Given the description of an element on the screen output the (x, y) to click on. 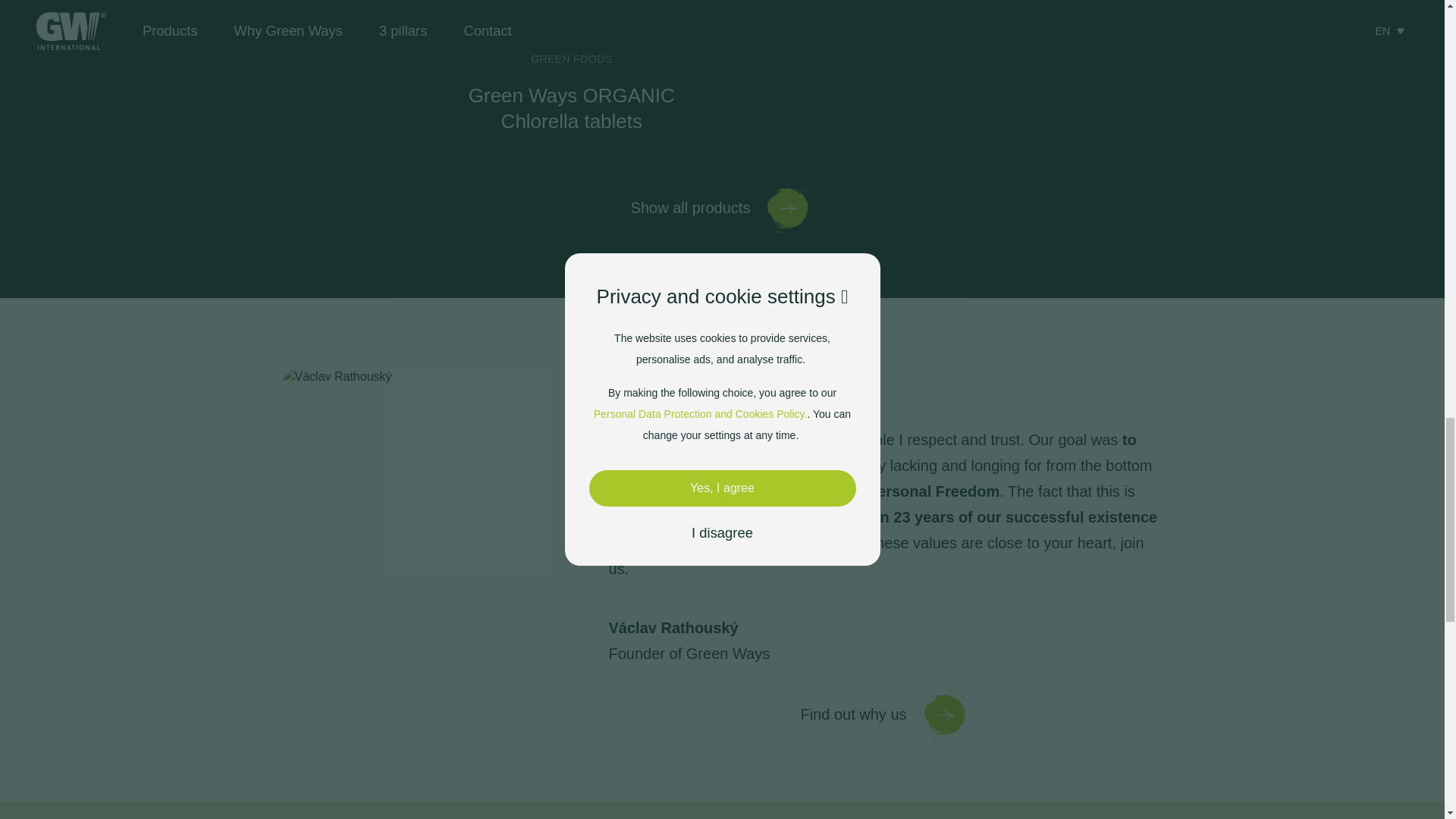
Find out why us (884, 714)
Show all products (571, 67)
